Given the description of an element on the screen output the (x, y) to click on. 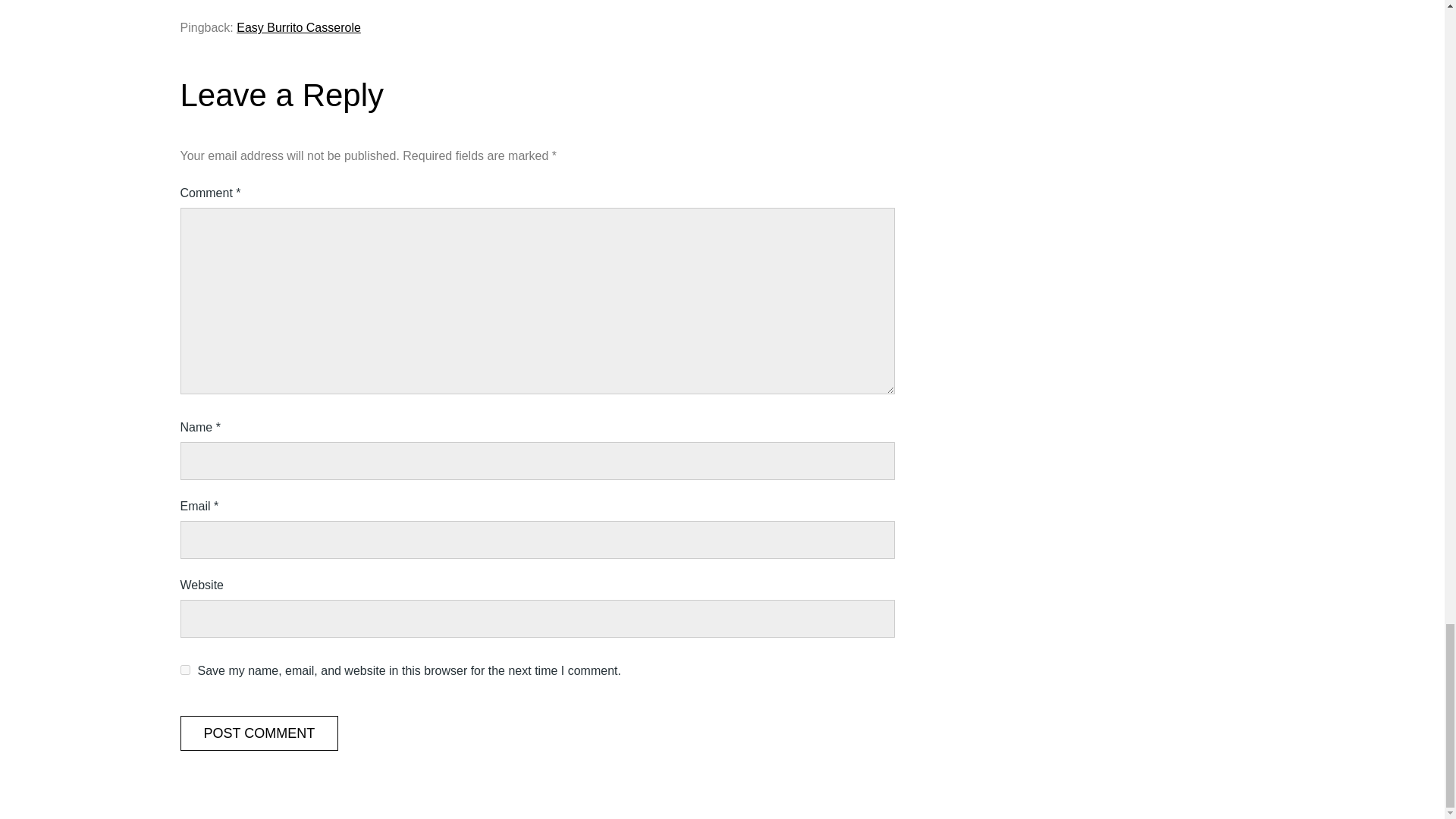
yes (185, 669)
Post Comment (259, 733)
